Given the description of an element on the screen output the (x, y) to click on. 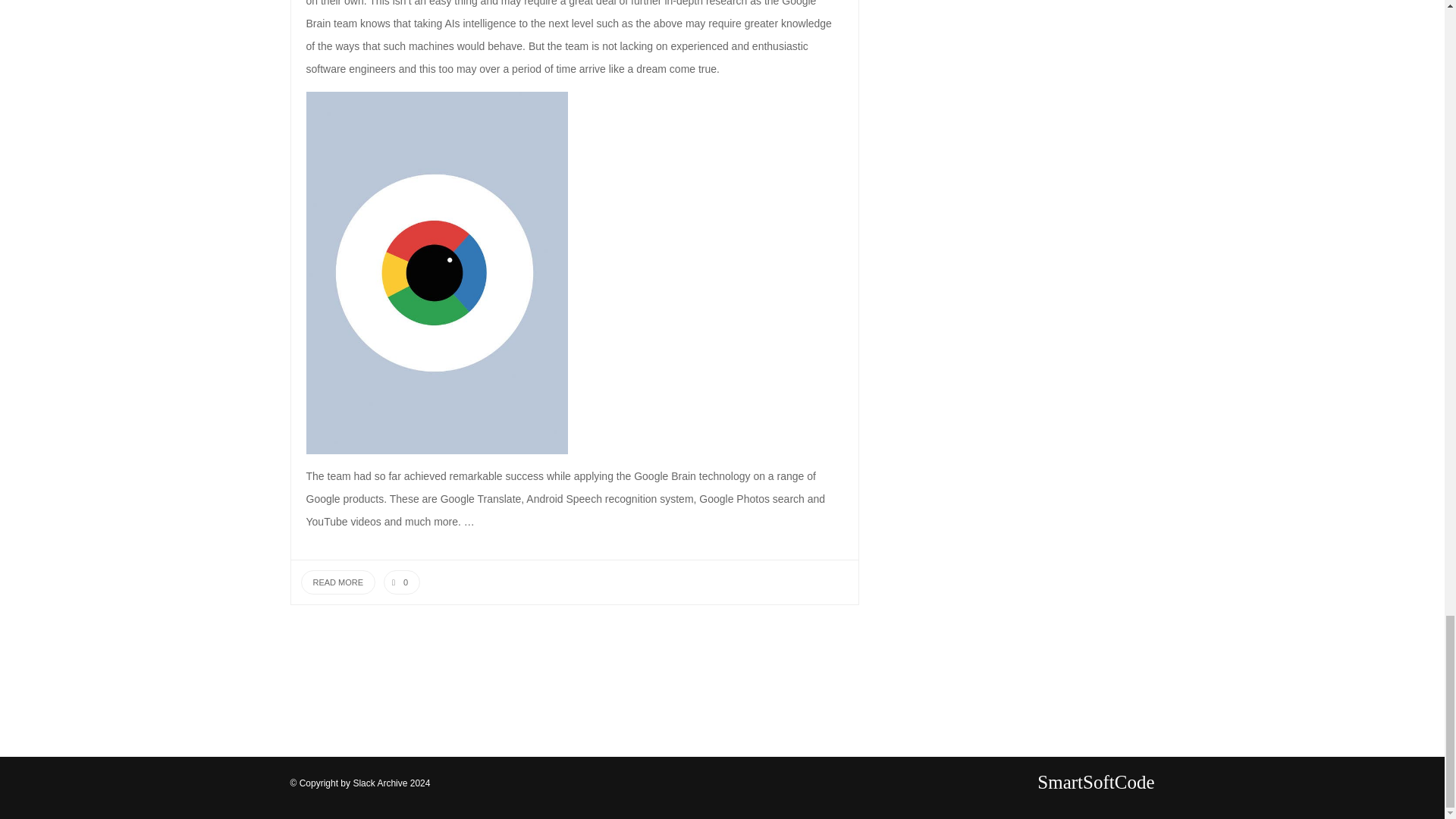
0 (402, 582)
READ MORE (337, 582)
